Given the description of an element on the screen output the (x, y) to click on. 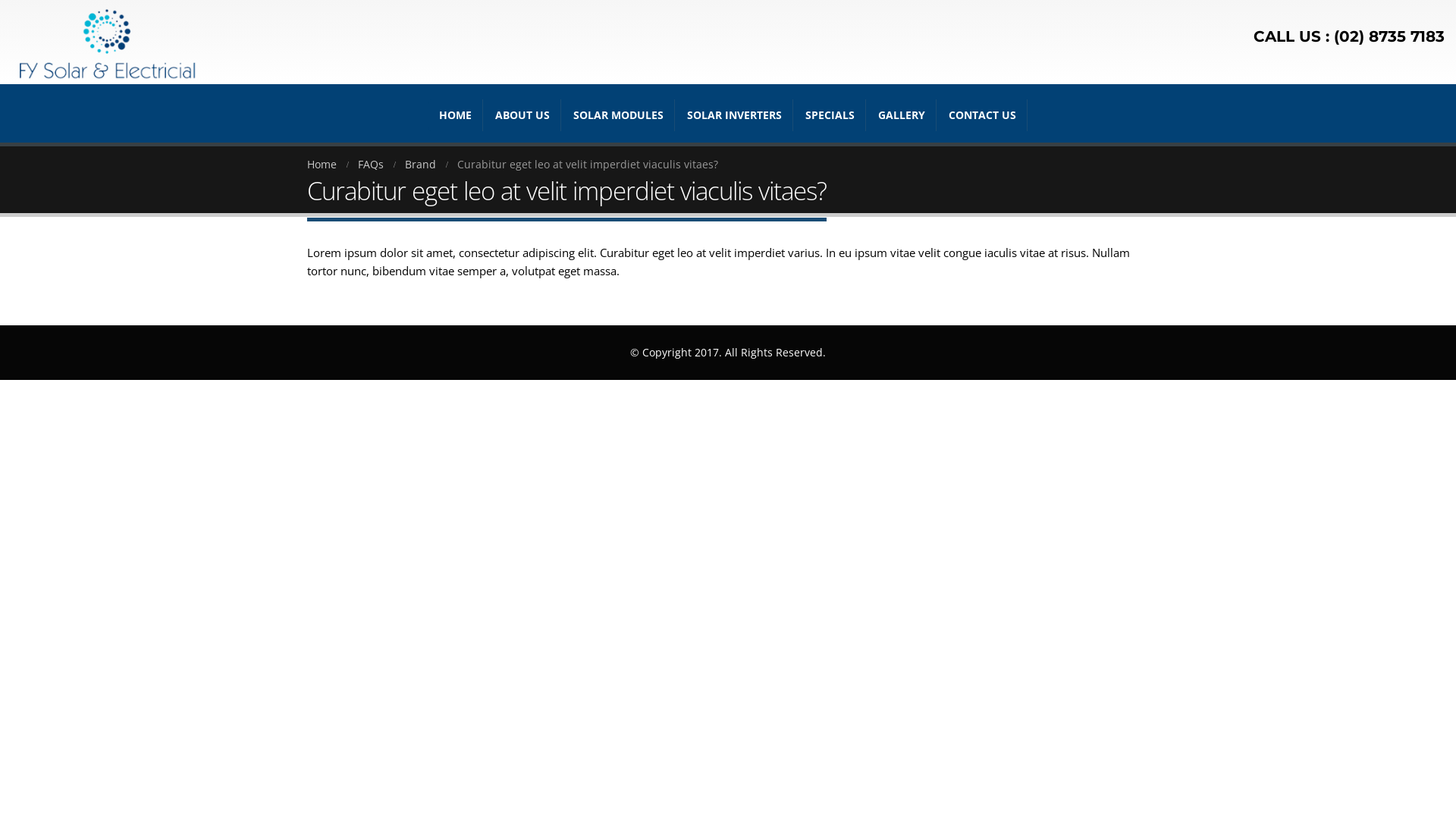
SPECIALS Element type: text (829, 115)
FAQs Element type: text (370, 164)
Brand Element type: text (420, 164)
ABOUT US Element type: text (522, 115)
HOME Element type: text (455, 115)
SOLAR INVERTERS Element type: text (734, 115)
SOLAR MODULES Element type: text (618, 115)
FY Solar - FY Solar & Electrical Energy Element type: hover (105, 42)
CALL US : (02) 8735 7183 Element type: text (1348, 36)
Home Element type: text (321, 164)
CONTACT US Element type: text (982, 115)
GALLERY Element type: text (901, 115)
